Given the description of an element on the screen output the (x, y) to click on. 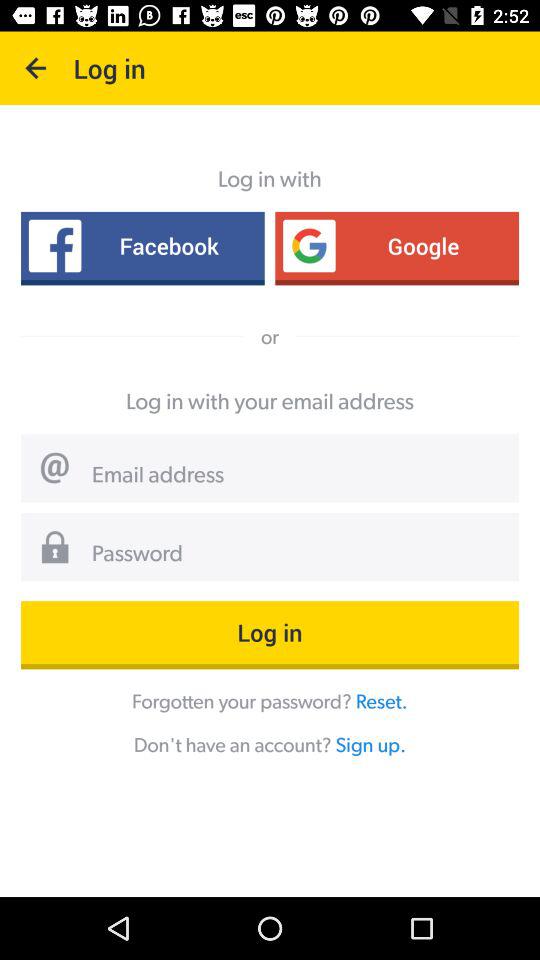
open the icon next to log in icon (36, 68)
